Given the description of an element on the screen output the (x, y) to click on. 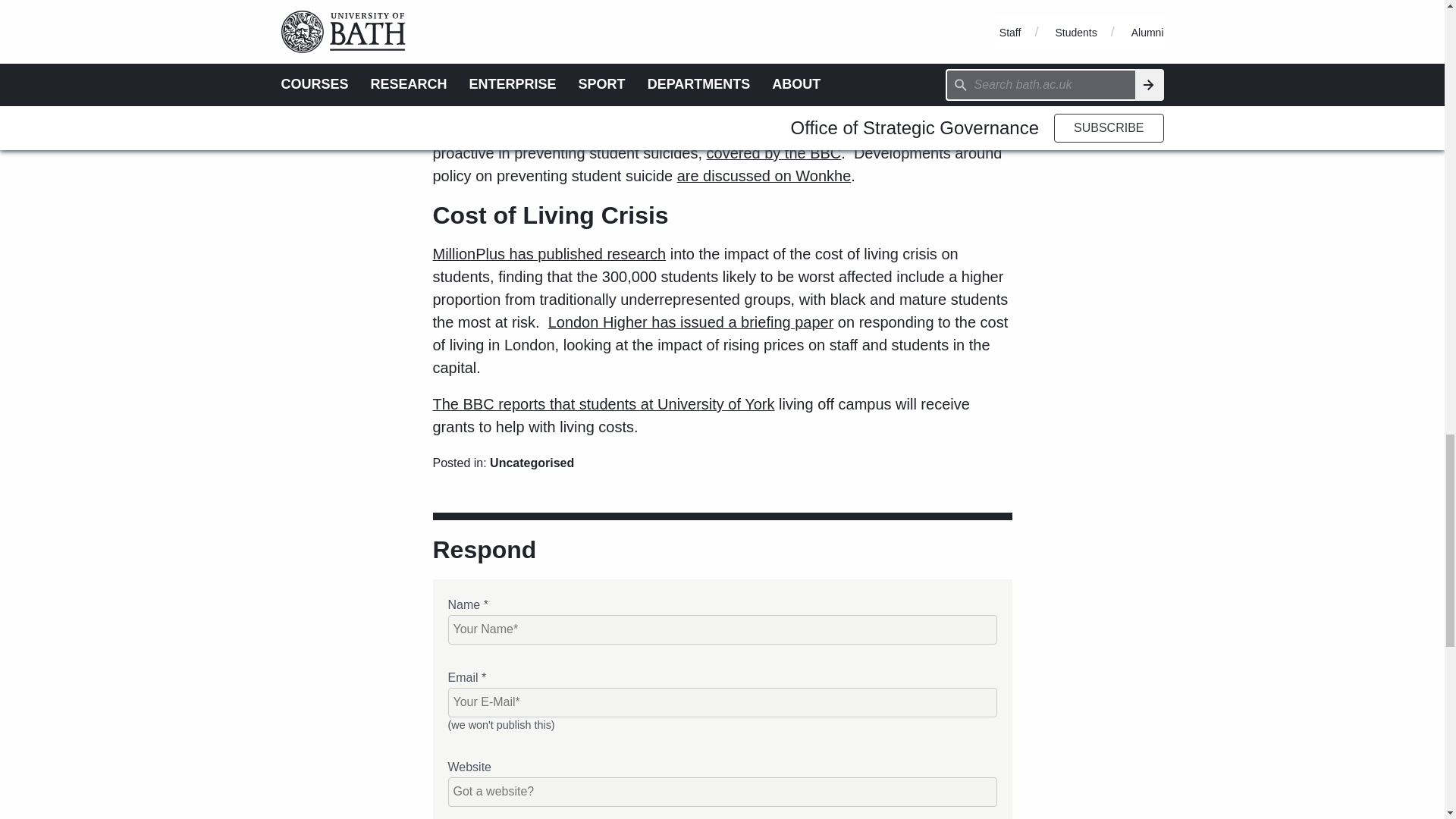
covered by the BBC (773, 152)
The OfS has published an independent evaluation (600, 48)
Universities UK has published recommendations (595, 130)
